Given the description of an element on the screen output the (x, y) to click on. 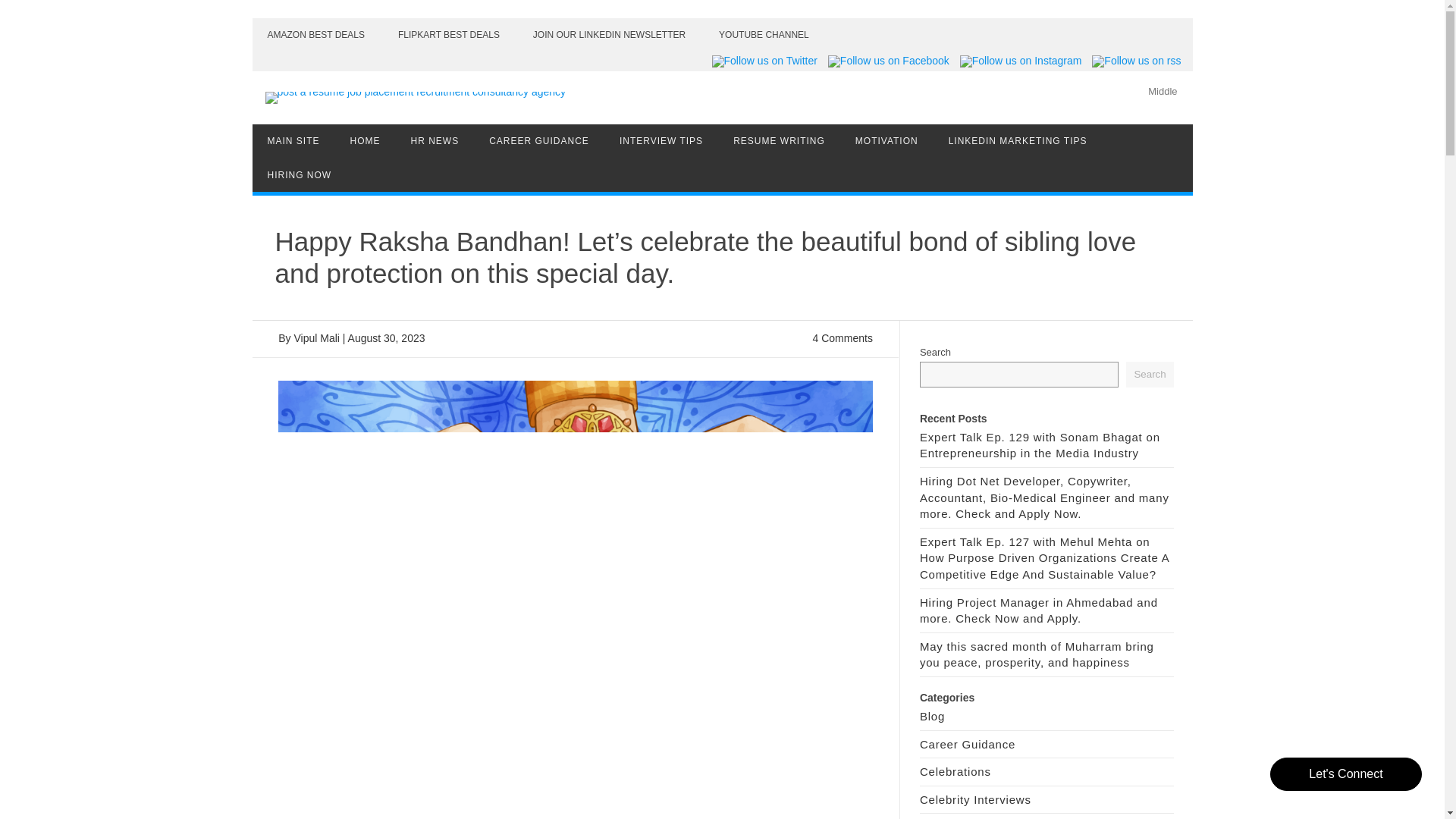
FLIPKART BEST DEALS (448, 34)
HR NEWS (435, 141)
INTERVIEW TIPS (660, 141)
MAIN SITE (292, 141)
AMAZON BEST DEALS (314, 34)
YOUTUBE CHANNEL (763, 34)
CAREER GUIDANCE (539, 141)
Posts by Vipul Mali (316, 337)
JOIN OUR LINKEDIN NEWSLETTER (609, 34)
HOME (365, 141)
